Given the description of an element on the screen output the (x, y) to click on. 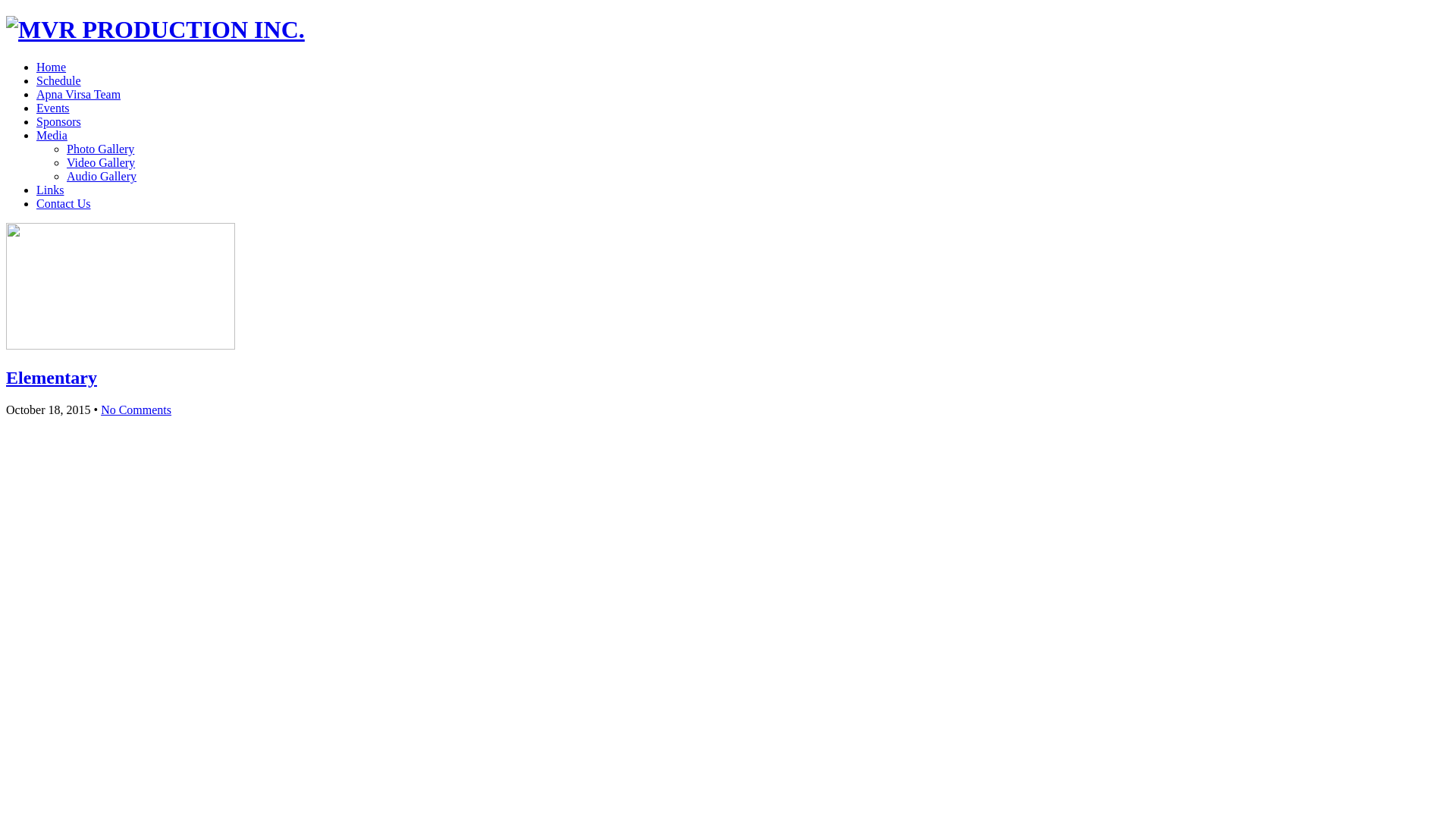
Media Element type: text (51, 134)
No Comments Element type: text (135, 409)
Elementary Element type: text (51, 377)
Events Element type: text (52, 107)
Home Element type: text (50, 66)
Contact Us Element type: text (63, 203)
Apna Virsa Team Element type: text (78, 93)
Sponsors Element type: text (58, 121)
Audio Gallery Element type: text (101, 175)
Photo Gallery Element type: text (100, 148)
Schedule Element type: text (58, 80)
Video Gallery Element type: text (100, 162)
Links Element type: text (49, 189)
